Given the description of an element on the screen output the (x, y) to click on. 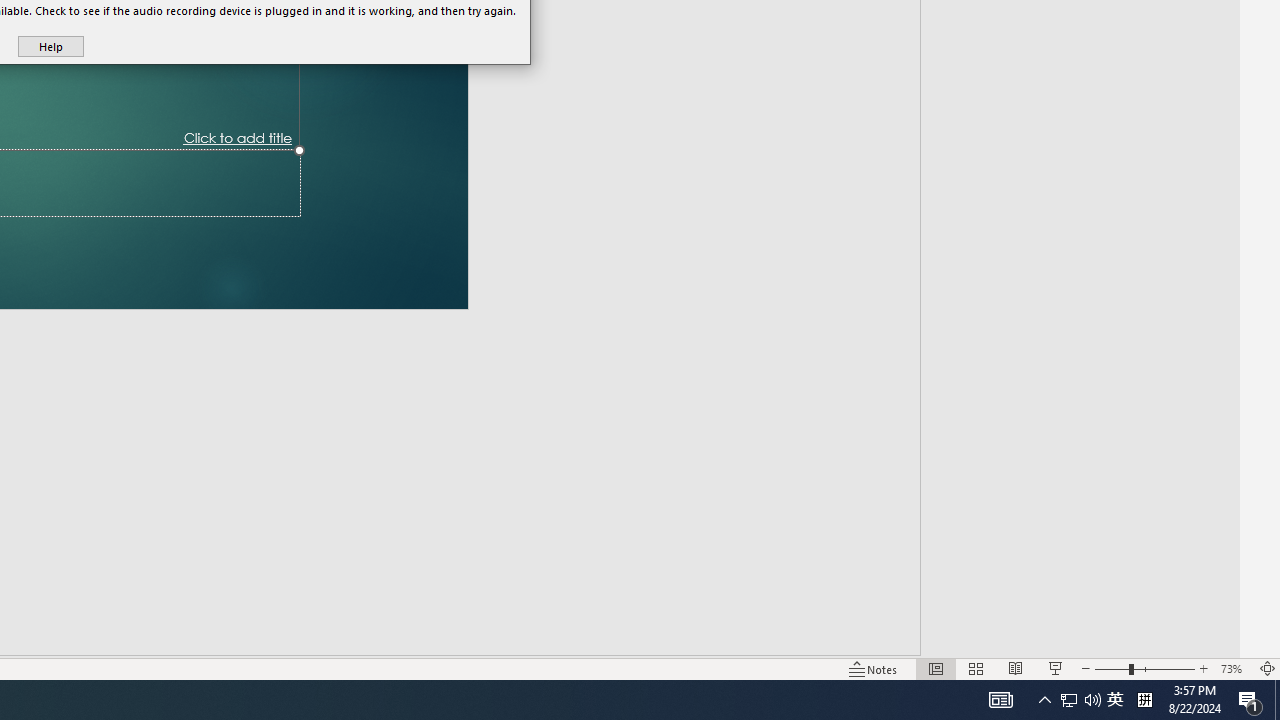
Zoom 73% (1234, 668)
